Given the description of an element on the screen output the (x, y) to click on. 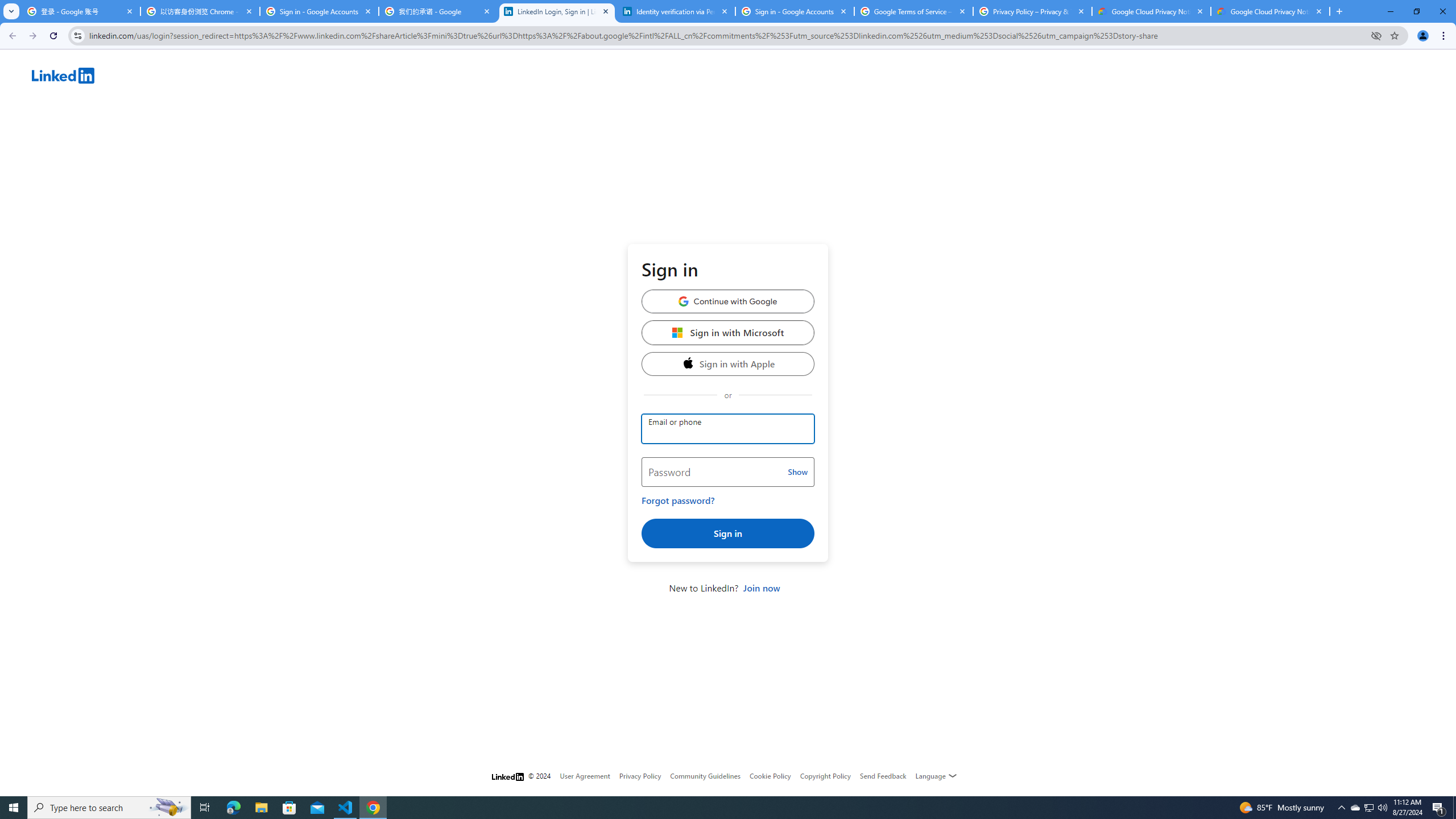
Copyright Policy (824, 775)
Cookie Policy (769, 775)
Sign in with Microsoft (727, 332)
LinkedIn Login, Sign in | LinkedIn (556, 11)
Email or phone (727, 428)
AutomationID: linkedin-logo (63, 75)
Forgot password? (678, 500)
Password (727, 472)
LinkedIn (744, 76)
